Given the description of an element on the screen output the (x, y) to click on. 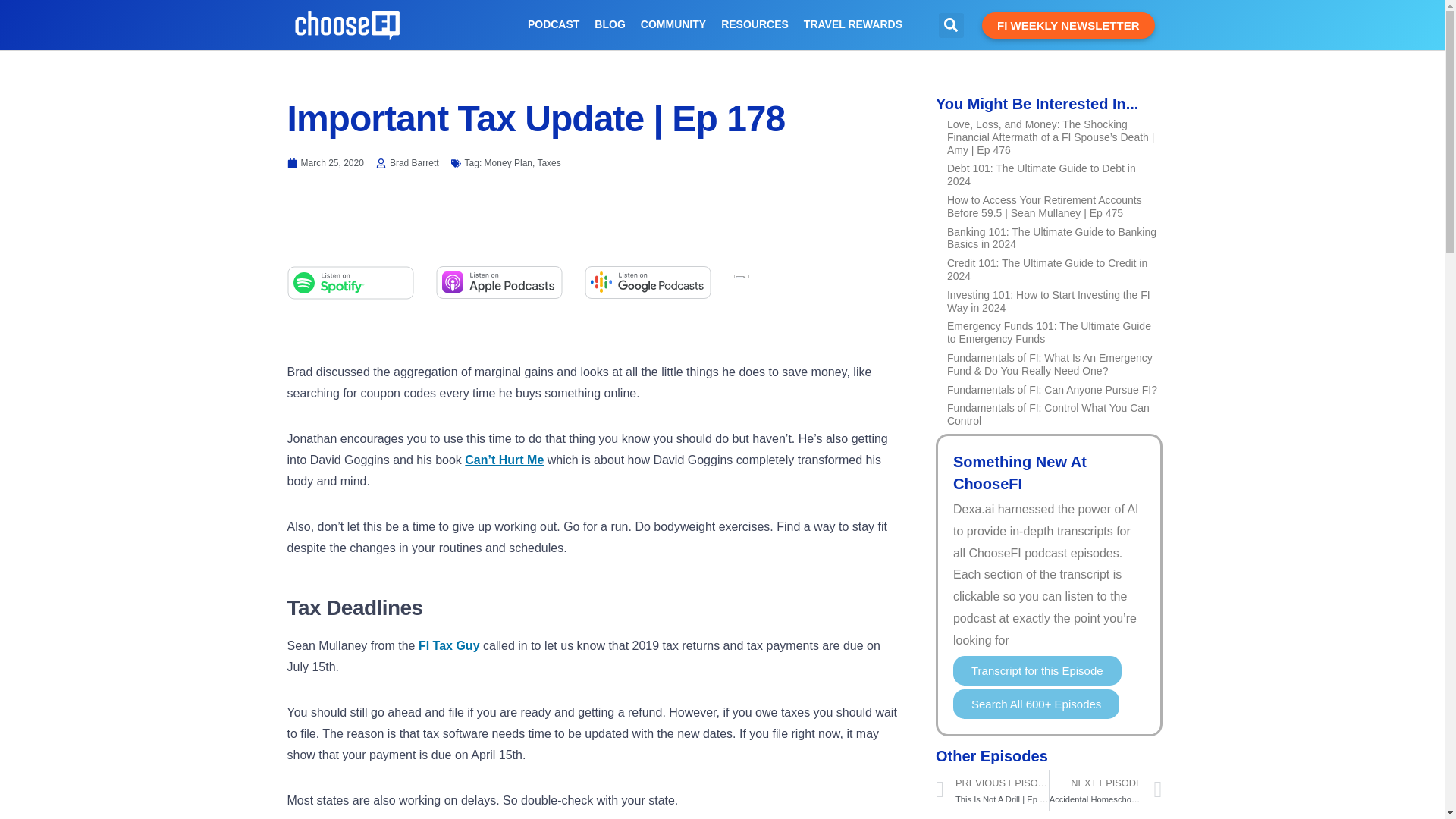
BLOG (609, 24)
FI WEEKLY NEWSLETTER (1067, 25)
RESOURCES (754, 24)
Taxes (548, 163)
PODCAST (553, 24)
Brad Barrett (407, 162)
Money Plan (508, 163)
TRAVEL REWARDS (854, 24)
COMMUNITY (673, 24)
Libsyn Player (591, 223)
